Given the description of an element on the screen output the (x, y) to click on. 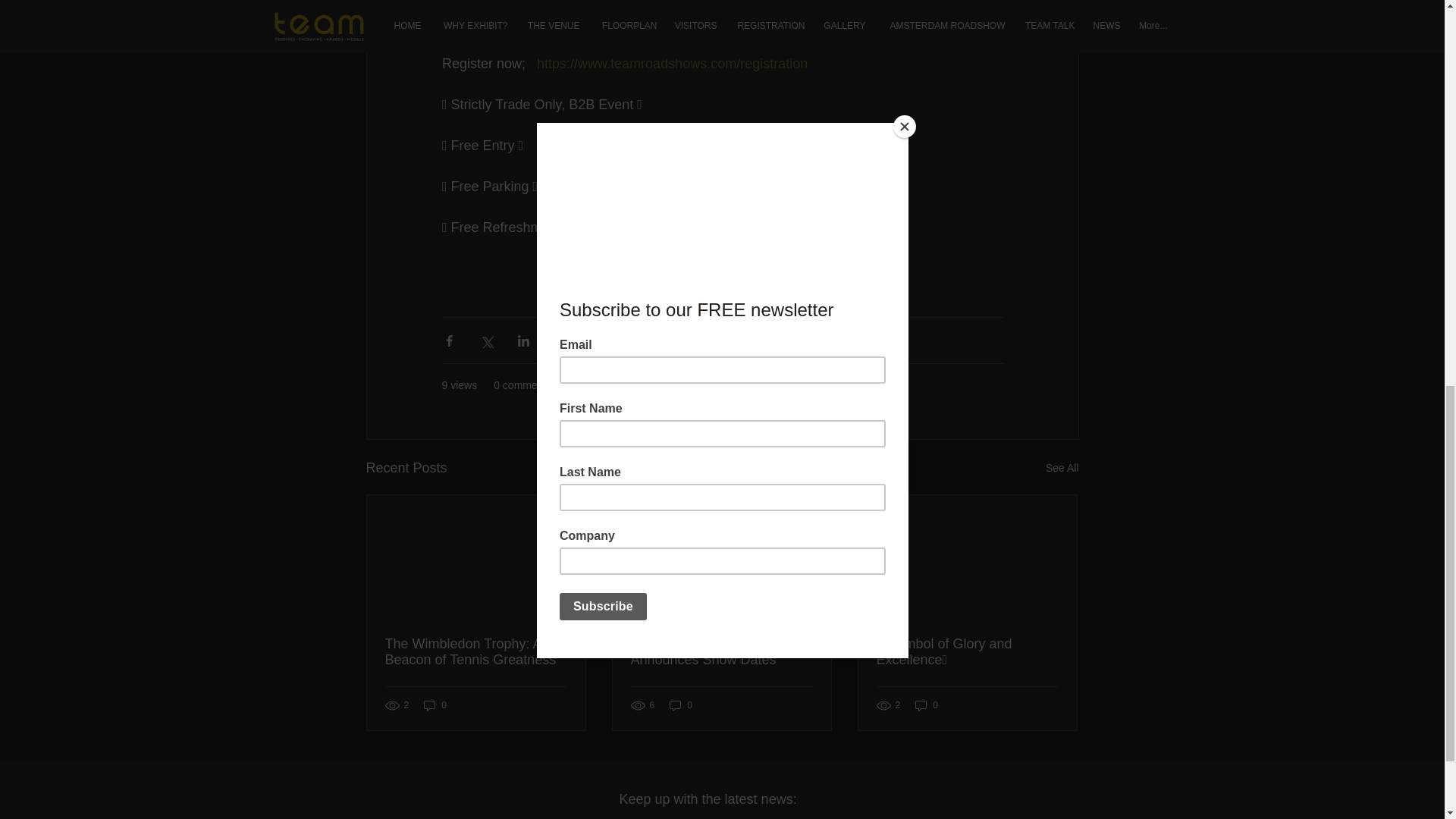
0 (681, 705)
See All (1061, 468)
0 (435, 705)
0 (926, 705)
The Wimbledon Trophy: A Beacon of Tennis Greatness (476, 652)
TEAM Roadshow 2025 Announces Show Dates (721, 652)
